Given the description of an element on the screen output the (x, y) to click on. 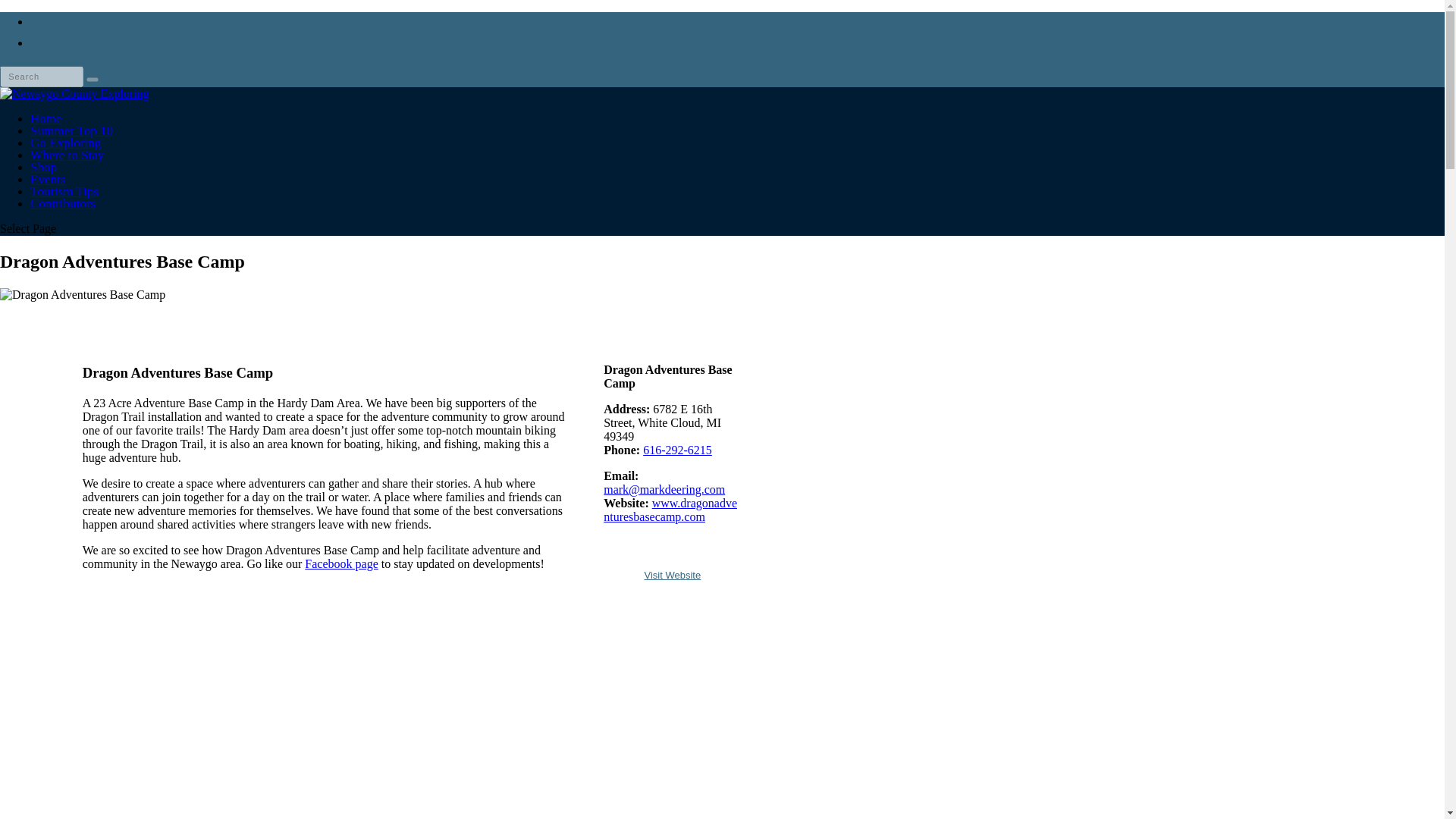
Summer Top 10 (71, 150)
Go Exploring (65, 162)
Search for: (41, 76)
